Given the description of an element on the screen output the (x, y) to click on. 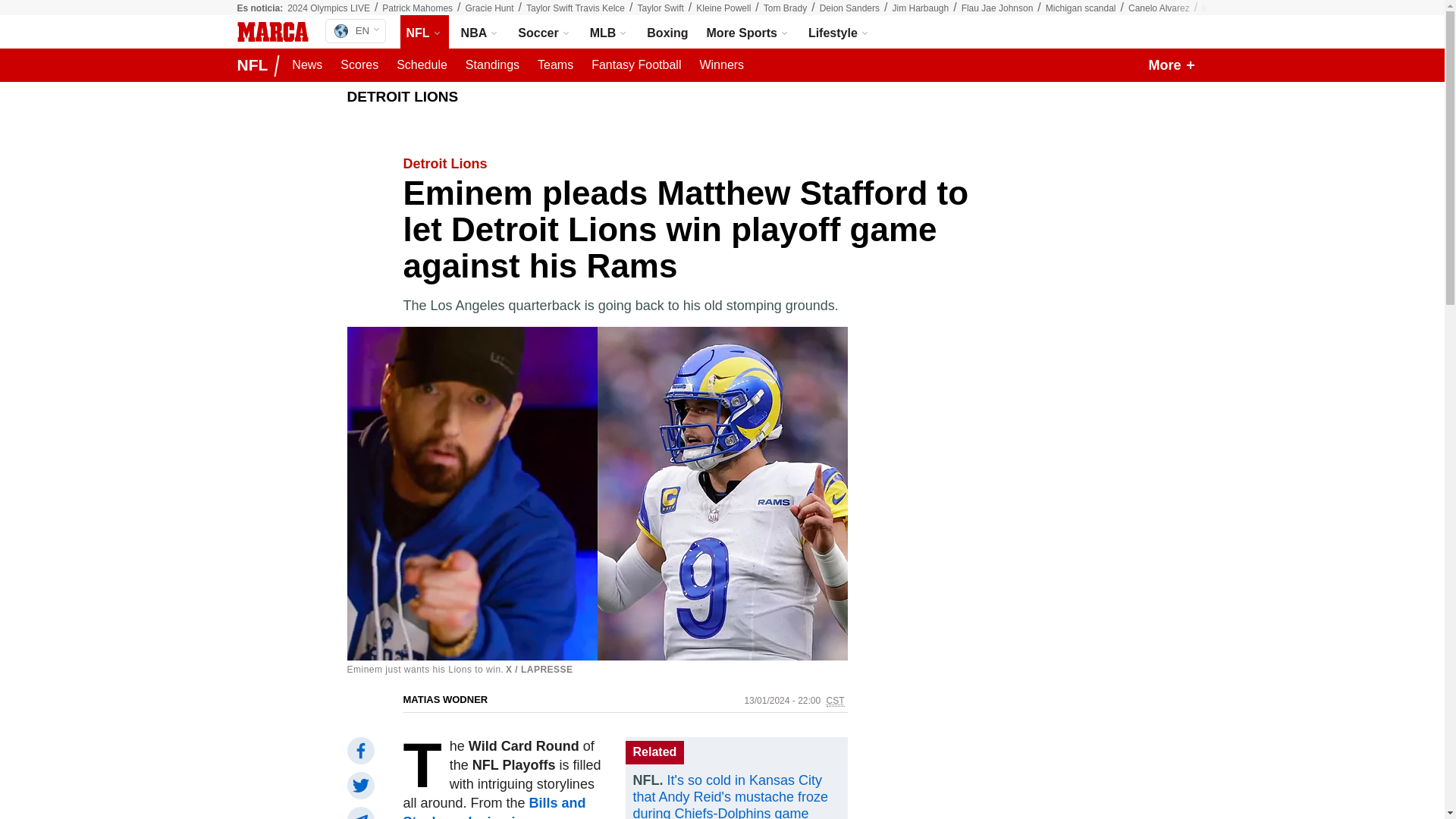
Deion Sanders (849, 8)
Central Standard Time (835, 700)
More Sports (748, 31)
NFL (424, 31)
MLB (608, 31)
Schedule (421, 64)
News (307, 64)
Kleine Powell (723, 8)
Imane Khelif (1227, 8)
Patrick Mahomes (416, 8)
Tom Brady (784, 8)
Michigan scandal (1080, 8)
Soccer (544, 31)
2024 Olympics LIVE (354, 30)
